Given the description of an element on the screen output the (x, y) to click on. 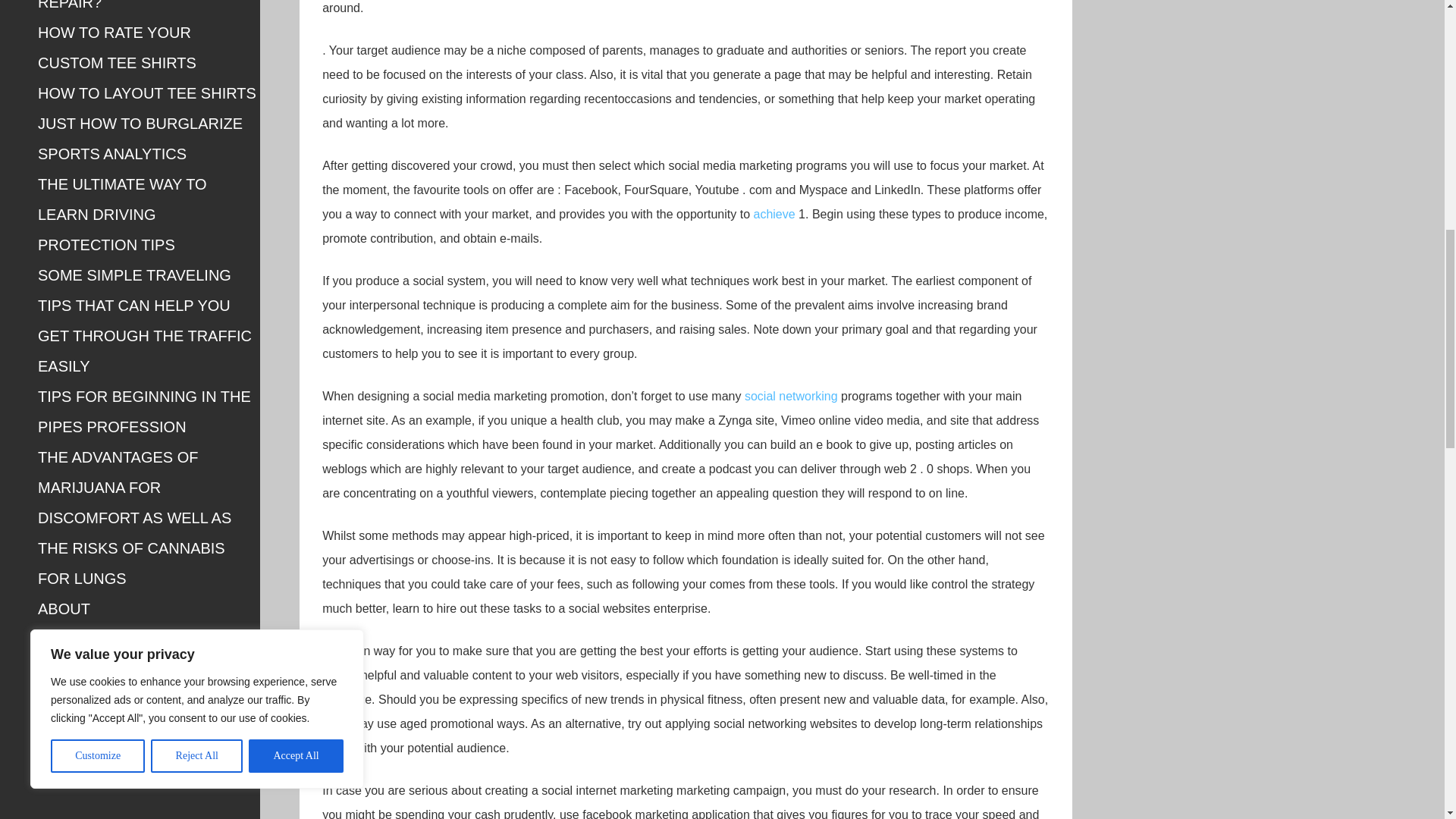
social networking (791, 395)
achieve (774, 214)
